Given the description of an element on the screen output the (x, y) to click on. 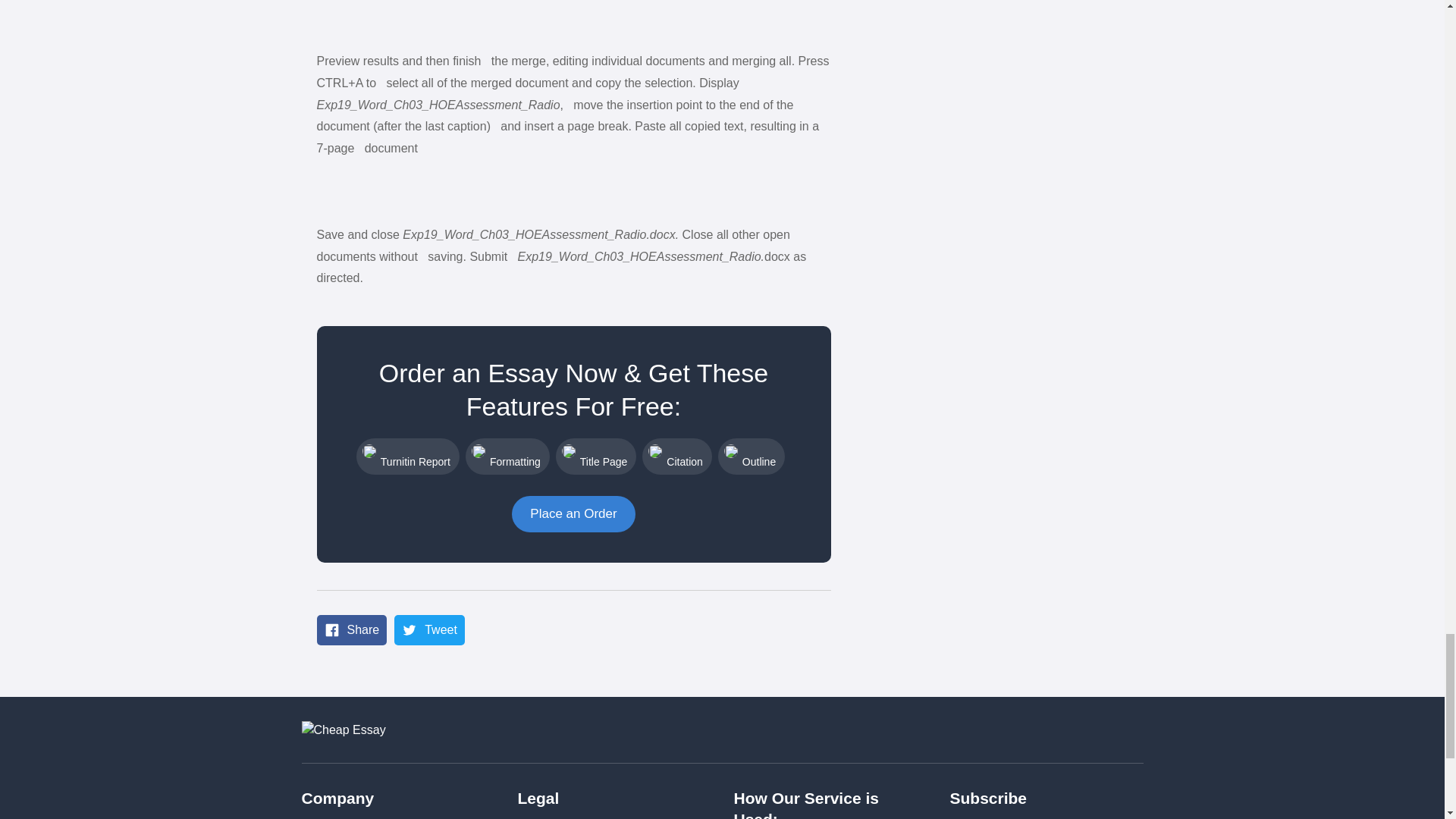
Share (352, 630)
Tweet (429, 630)
Place an Order (573, 514)
